Given the description of an element on the screen output the (x, y) to click on. 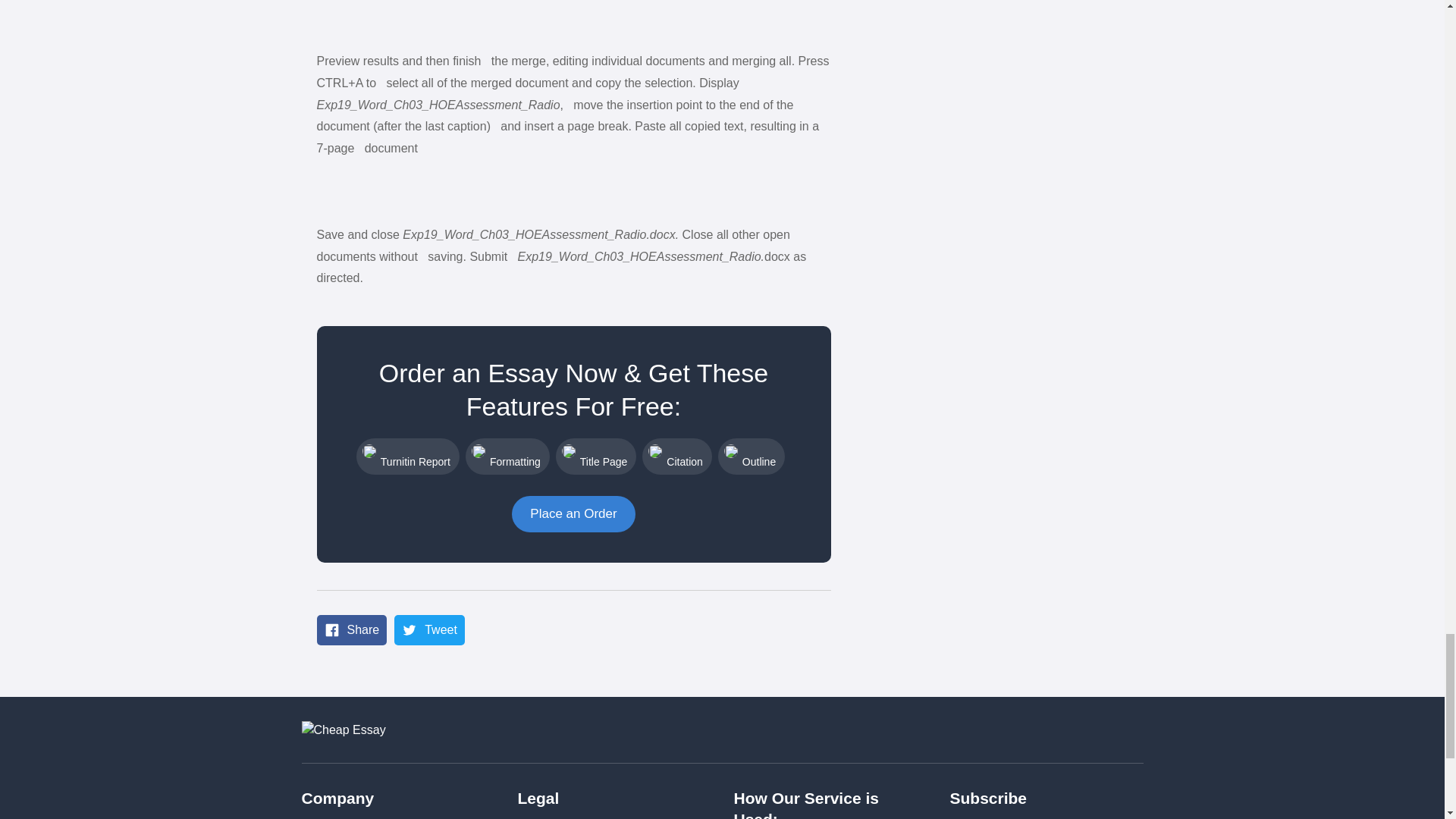
Share (352, 630)
Tweet (429, 630)
Place an Order (573, 514)
